Given the description of an element on the screen output the (x, y) to click on. 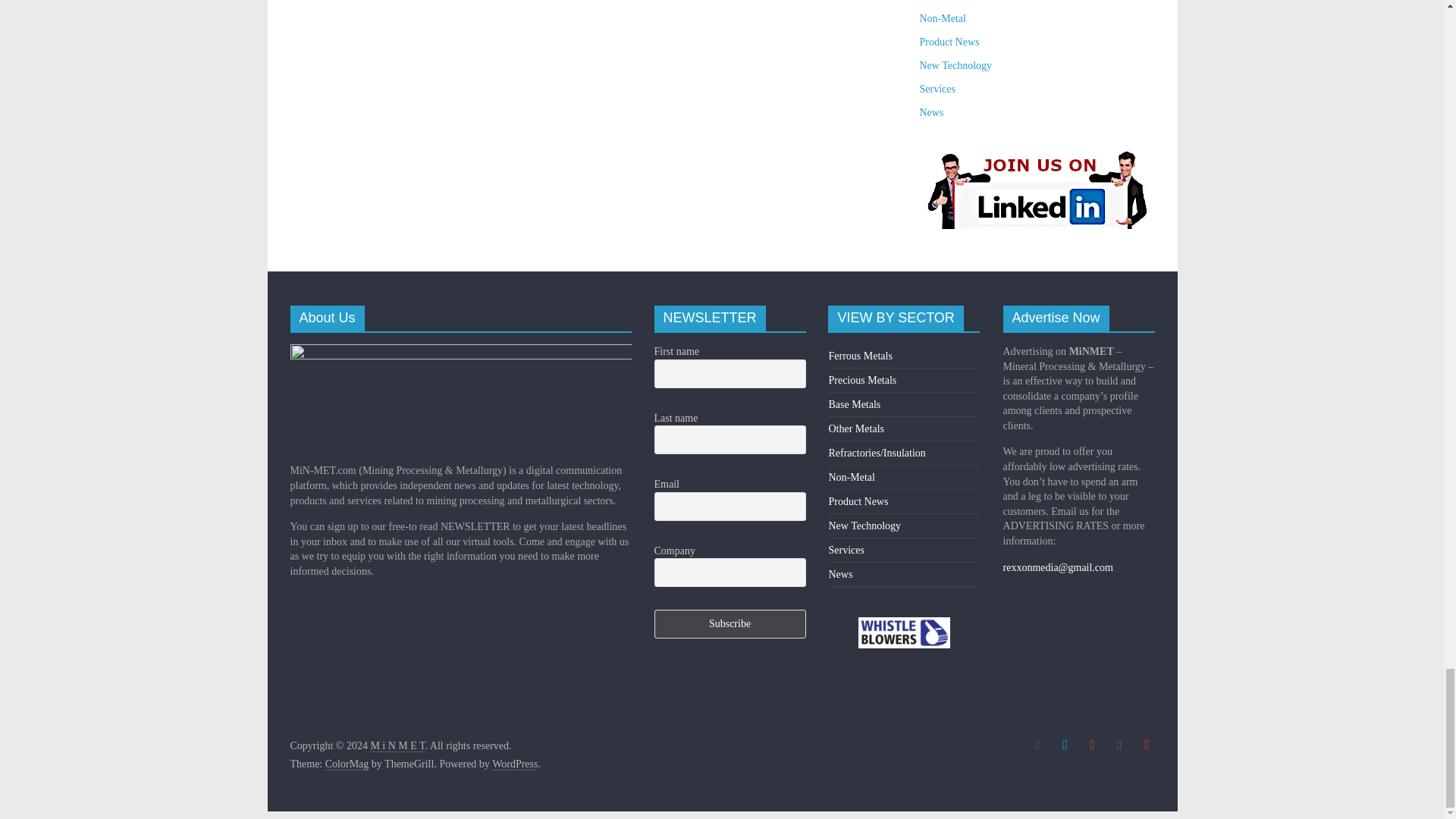
Subscribe (729, 623)
